Given the description of an element on the screen output the (x, y) to click on. 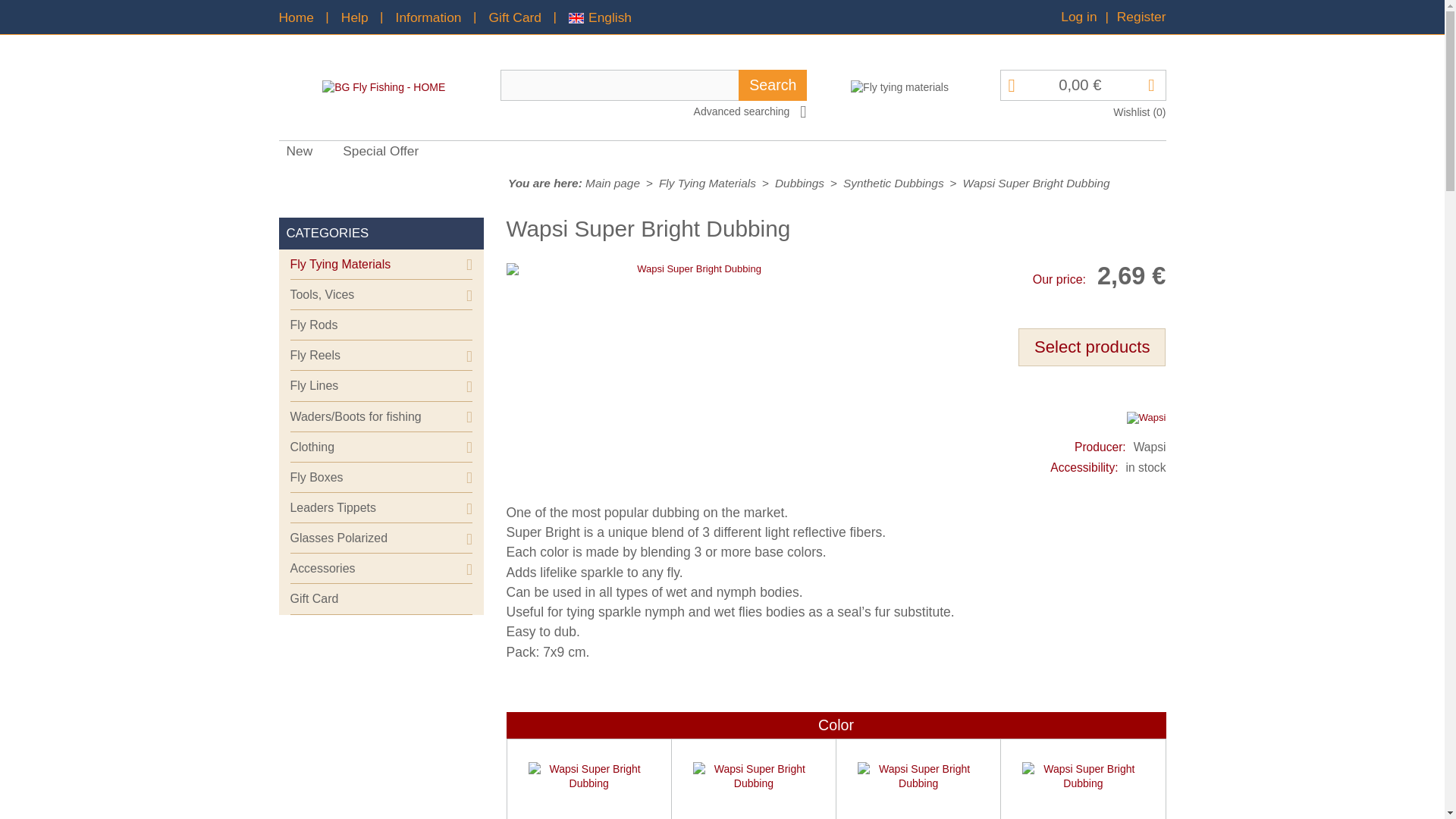
Gift Card (515, 16)
Advanced searching (752, 111)
Dubbings (799, 182)
Help (354, 16)
Main page (612, 182)
English (600, 16)
Search (772, 84)
English (600, 16)
Fly Tying Materials (707, 182)
Special Offer (387, 153)
Help (354, 16)
Information (428, 16)
Home (296, 16)
Register (1141, 16)
New (307, 153)
